Given the description of an element on the screen output the (x, y) to click on. 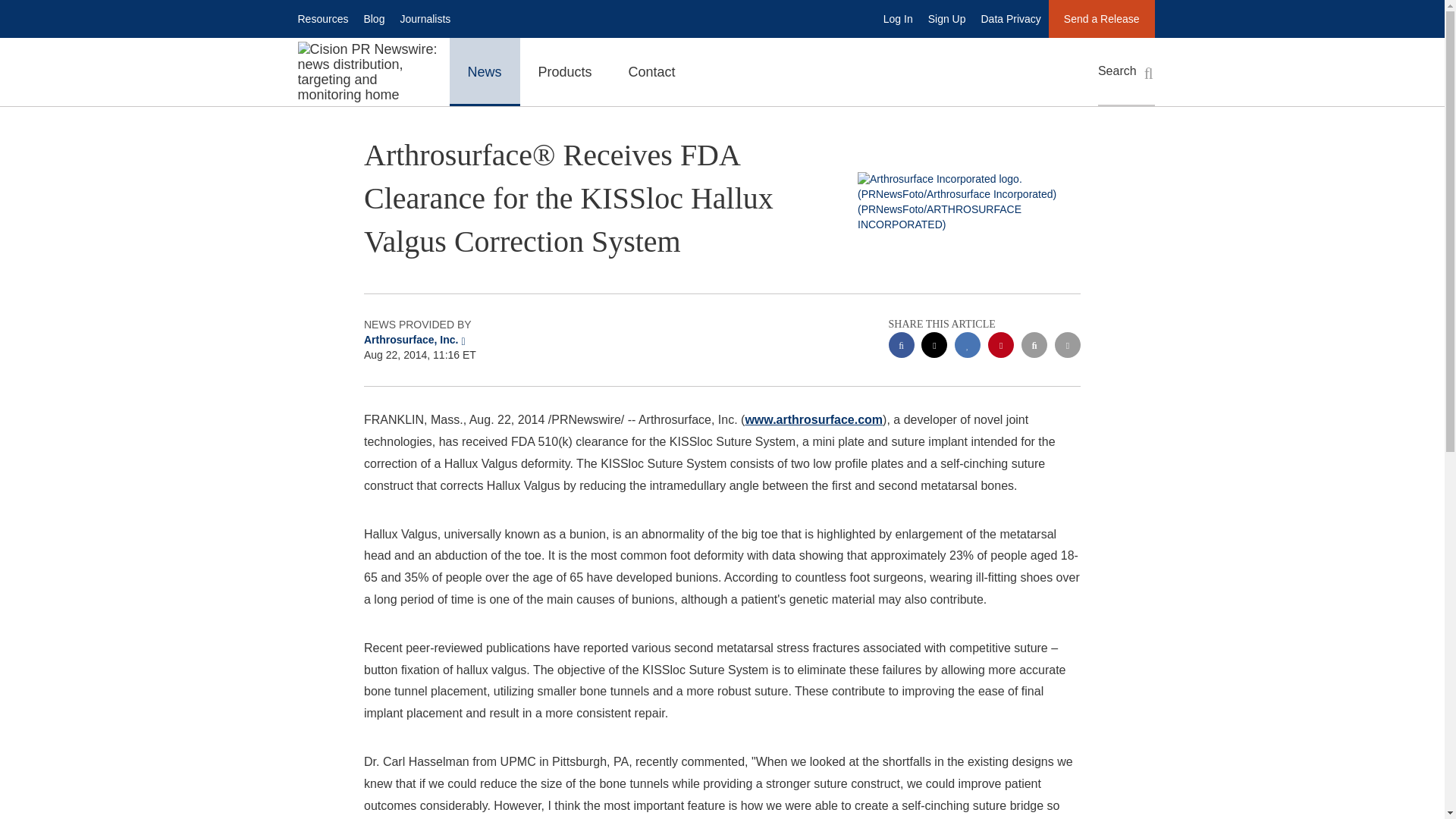
Contact (652, 71)
Journalists (424, 18)
Blog (373, 18)
Resources (322, 18)
Data Privacy (1011, 18)
Sign Up (947, 18)
Products (564, 71)
Send a Release (1101, 18)
News (483, 71)
